Given the description of an element on the screen output the (x, y) to click on. 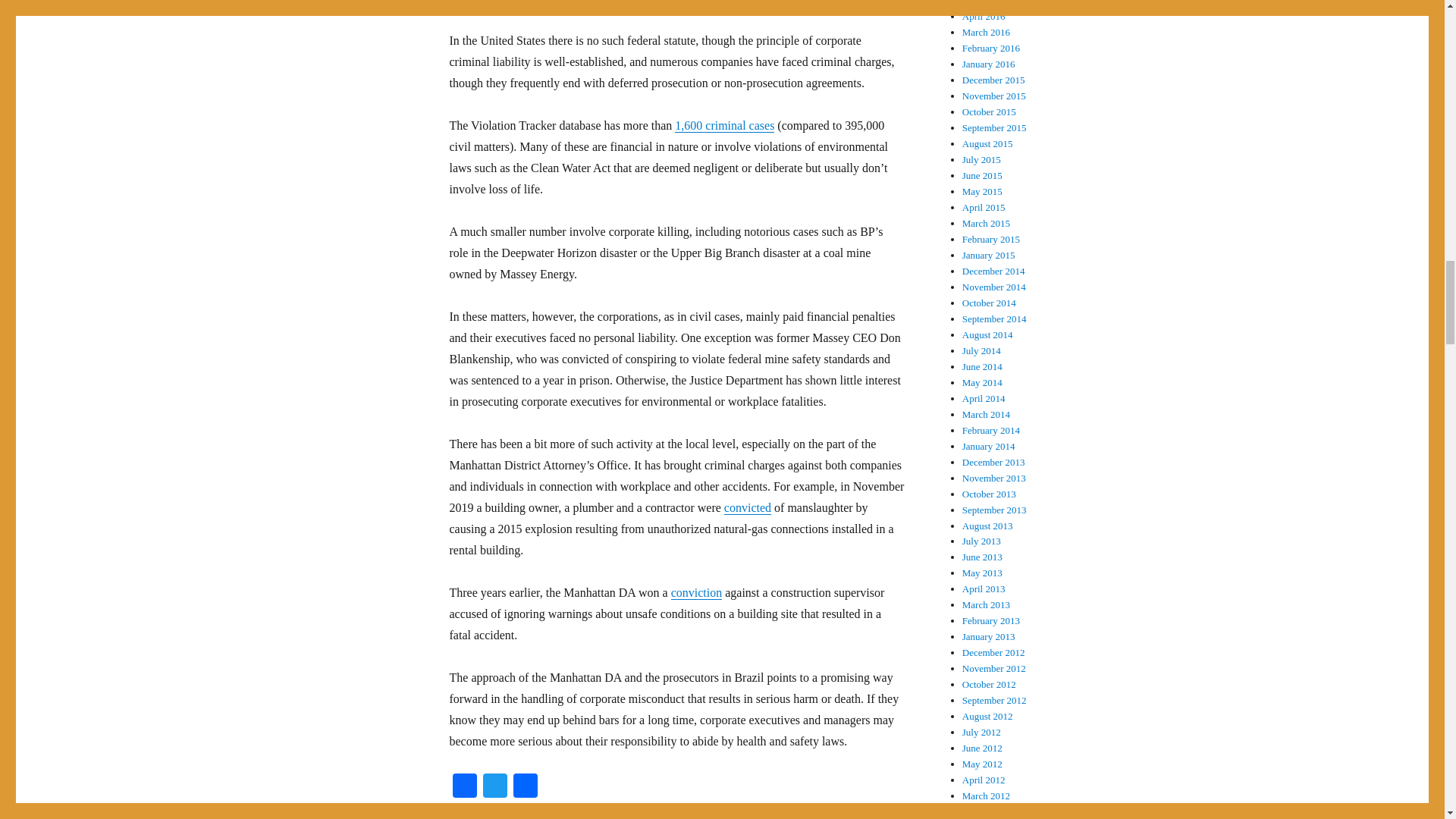
Share (524, 787)
1,600 criminal cases (724, 124)
conviction (696, 592)
Twitter (494, 787)
Facebook (463, 787)
Twitter (494, 787)
convicted (747, 507)
Facebook (463, 787)
